Given the description of an element on the screen output the (x, y) to click on. 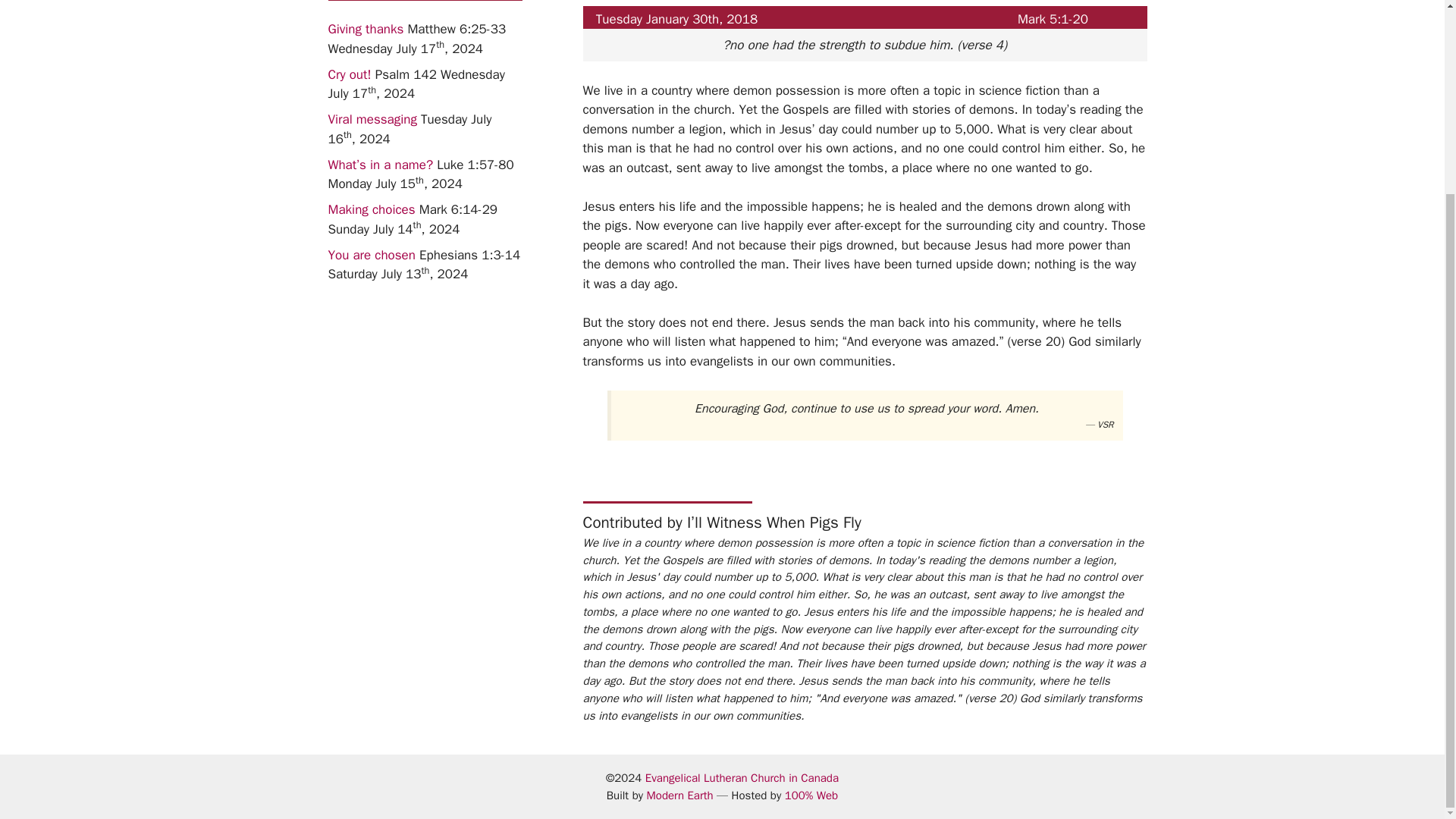
Giving thanks (365, 28)
Evangelical Lutheran Church in Canada (741, 777)
Viral messaging (371, 119)
WordPress Web Development (679, 795)
Modern Earth (679, 795)
WordPress Web Hosting (811, 795)
You are chosen (370, 254)
Making choices (370, 209)
Cry out! (349, 74)
